Given the description of an element on the screen output the (x, y) to click on. 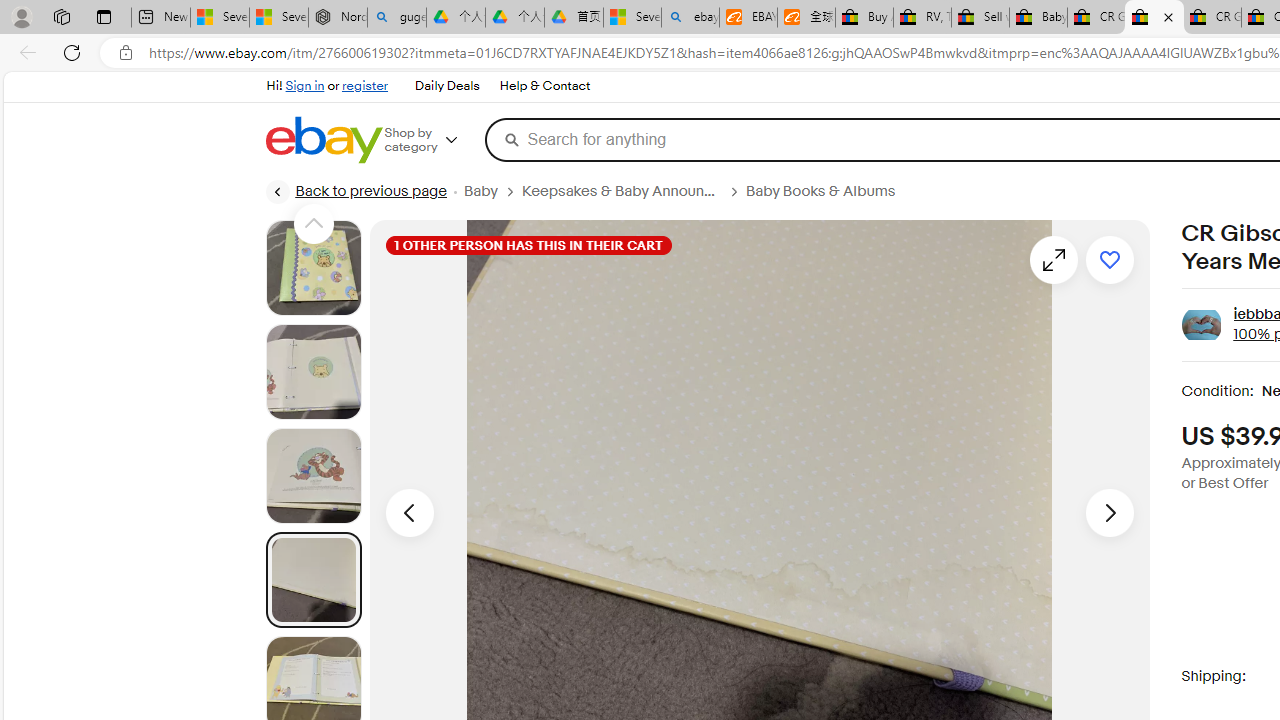
Opens image gallery (1053, 259)
Shop by category (434, 140)
Baby Books & Albums (827, 191)
guge yunpan - Search (396, 17)
Next image - Item images thumbnails (1109, 512)
eBay Home (323, 139)
register (364, 85)
Back to previous page (355, 191)
Picture 2 of 22 (313, 371)
Sell worldwide with eBay (980, 17)
Picture 3 of 22 (313, 475)
